Given the description of an element on the screen output the (x, y) to click on. 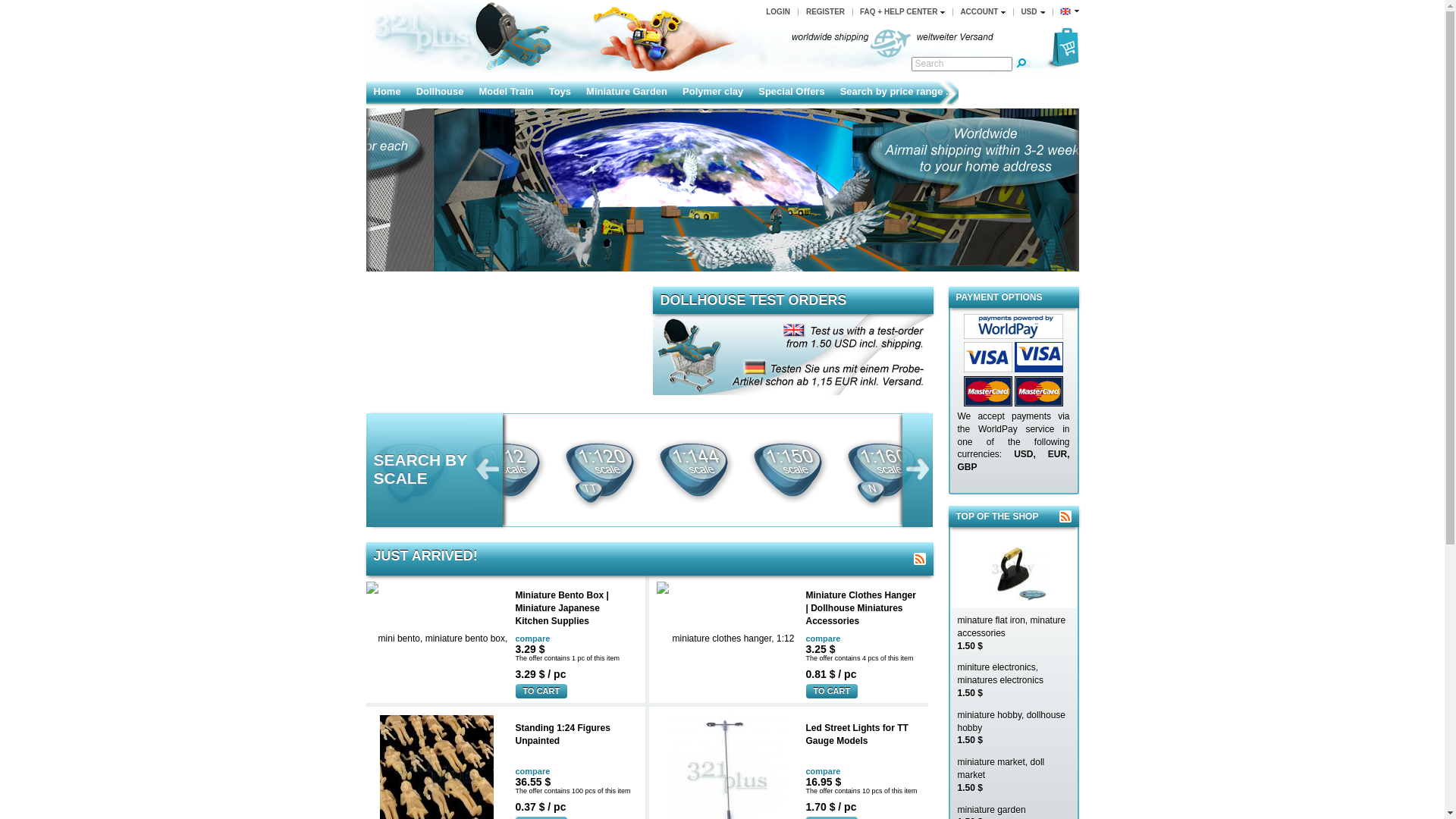
miniature hobby, dollhouse hobby
1.50 $ Element type: text (1012, 726)
321-miniature.com/Top of the Shop Element type: hover (1064, 516)
TO CART Element type: text (831, 691)
Polymer clay Element type: text (712, 93)
Miniature Garden Element type: text (626, 93)
Minature flat iron for your doll house. Element type: hover (1013, 567)
Search by price range .. Element type: text (895, 93)
Standing 1:24 Figures Unpainted Element type: text (572, 734)
Special Offers Element type: text (790, 93)
LOGIN Element type: text (777, 11)
USD Element type: text (1032, 11)
Mastercard Debit Payments supported by WorldPay Element type: hover (1038, 391)
Model Train Element type: text (505, 93)
compare Element type: text (865, 772)
FAQ + HELP CENTER Element type: text (901, 11)
minature flat iron, minature accessories
1.50 $ Element type: text (1012, 631)
Led Street Lights for TT Gauge Models Element type: text (861, 734)
Visa Debit Payments supported by WorldPay Element type: hover (984, 357)
miniature market, doll market
1.50 $ Element type: text (1012, 773)
REGISTER Element type: text (825, 11)
Home Element type: text (386, 93)
TO CART Element type: text (541, 691)
Dollhouse Element type: text (439, 93)
ACCOUNT Element type: text (982, 11)
Mastercard Credit Payments supported by WorldPay Element type: hover (984, 391)
compare Element type: text (576, 639)
compare Element type: text (865, 639)
Miniature Bento Box | Miniature Japanese Kitchen Supplies Element type: text (572, 607)
compare Element type: text (576, 772)
miniture electronics, minatures electronics
1.50 $ Element type: text (1012, 678)
Payments supported by WorldPay Element type: hover (1009, 325)
ENGLISH Element type: text (1069, 11)
321-miniature.com/Newest shop articles Element type: hover (919, 558)
Visa Credit Payments supported by WorldPay Element type: hover (1038, 357)
Toys Element type: text (559, 93)
Miniature Clothes Hanger | Dollhouse Miniatures Accessories Element type: text (861, 607)
